Given the description of an element on the screen output the (x, y) to click on. 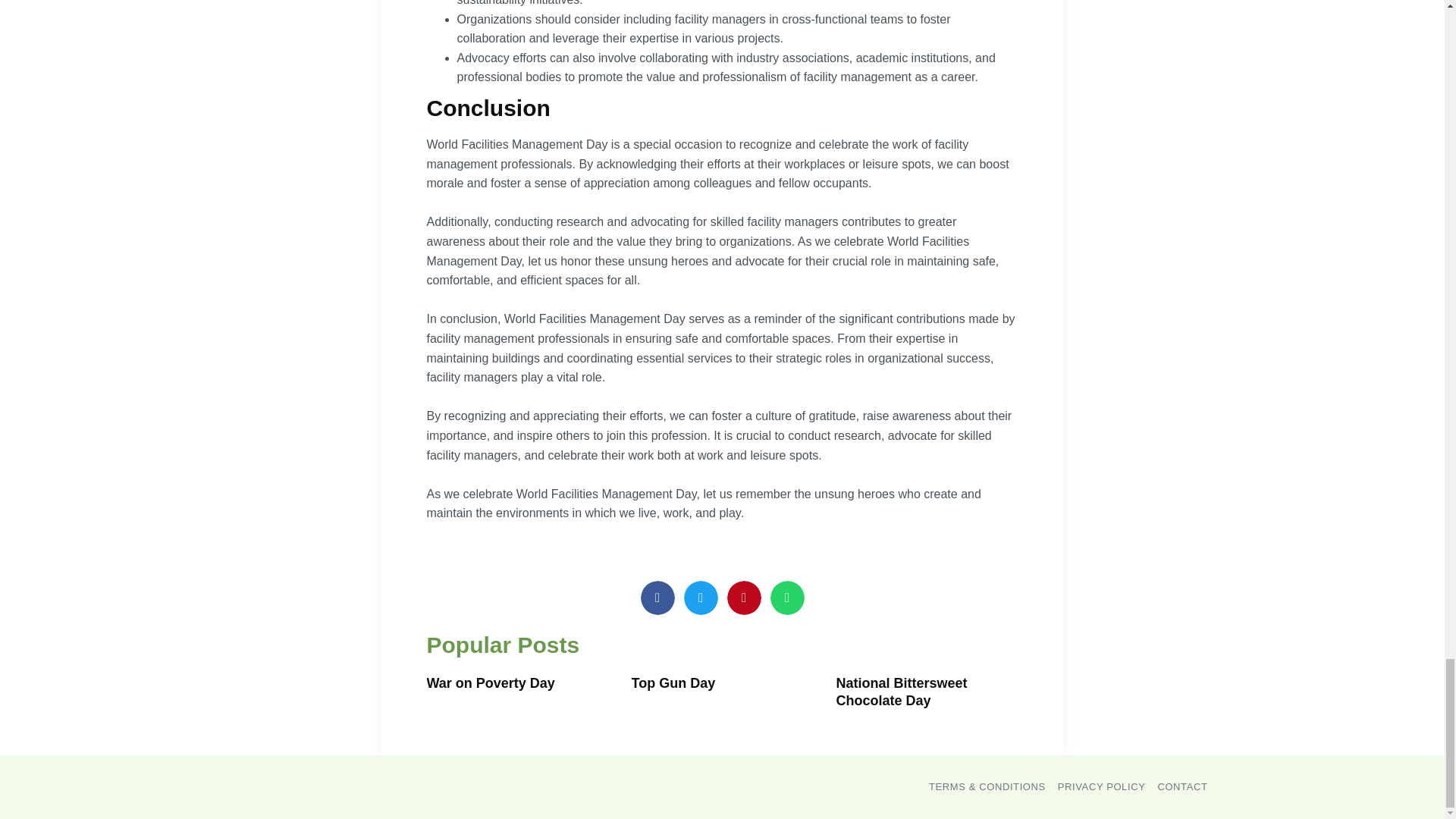
National Bittersweet Chocolate Day (900, 691)
War on Poverty Day (490, 683)
Top Gun Day (672, 683)
PRIVACY POLICY (1101, 786)
CONTACT (1182, 786)
